Given the description of an element on the screen output the (x, y) to click on. 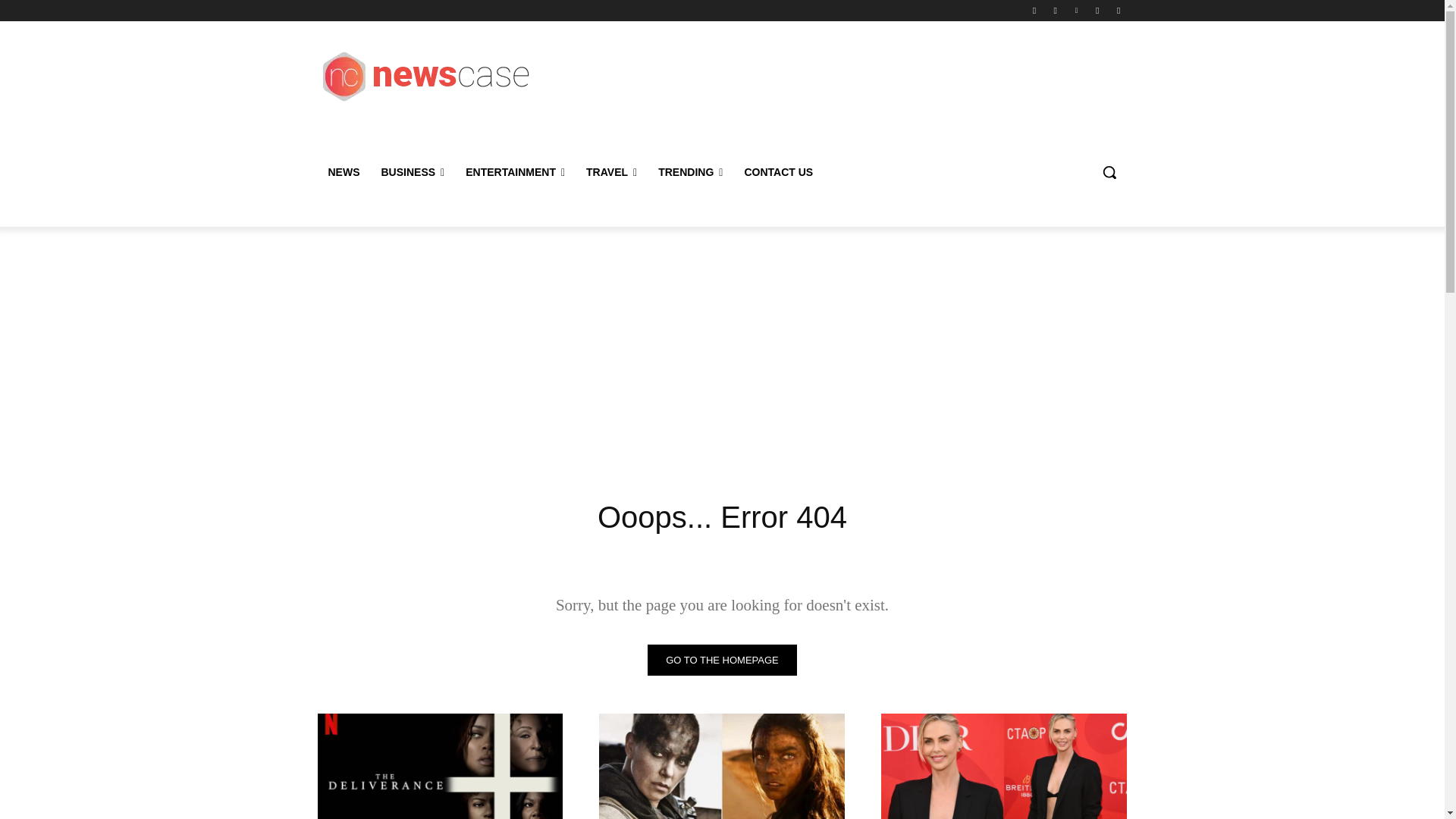
Instagram (1055, 9)
Tumblr (1097, 9)
NEWS (343, 171)
Twitter (1117, 9)
ENTERTAINMENT (514, 171)
Linkedin (1075, 9)
TRENDING (690, 171)
Facebook (1034, 9)
TRAVEL (611, 171)
Go to the homepage (721, 659)
BUSINESS (411, 171)
